Given the description of an element on the screen output the (x, y) to click on. 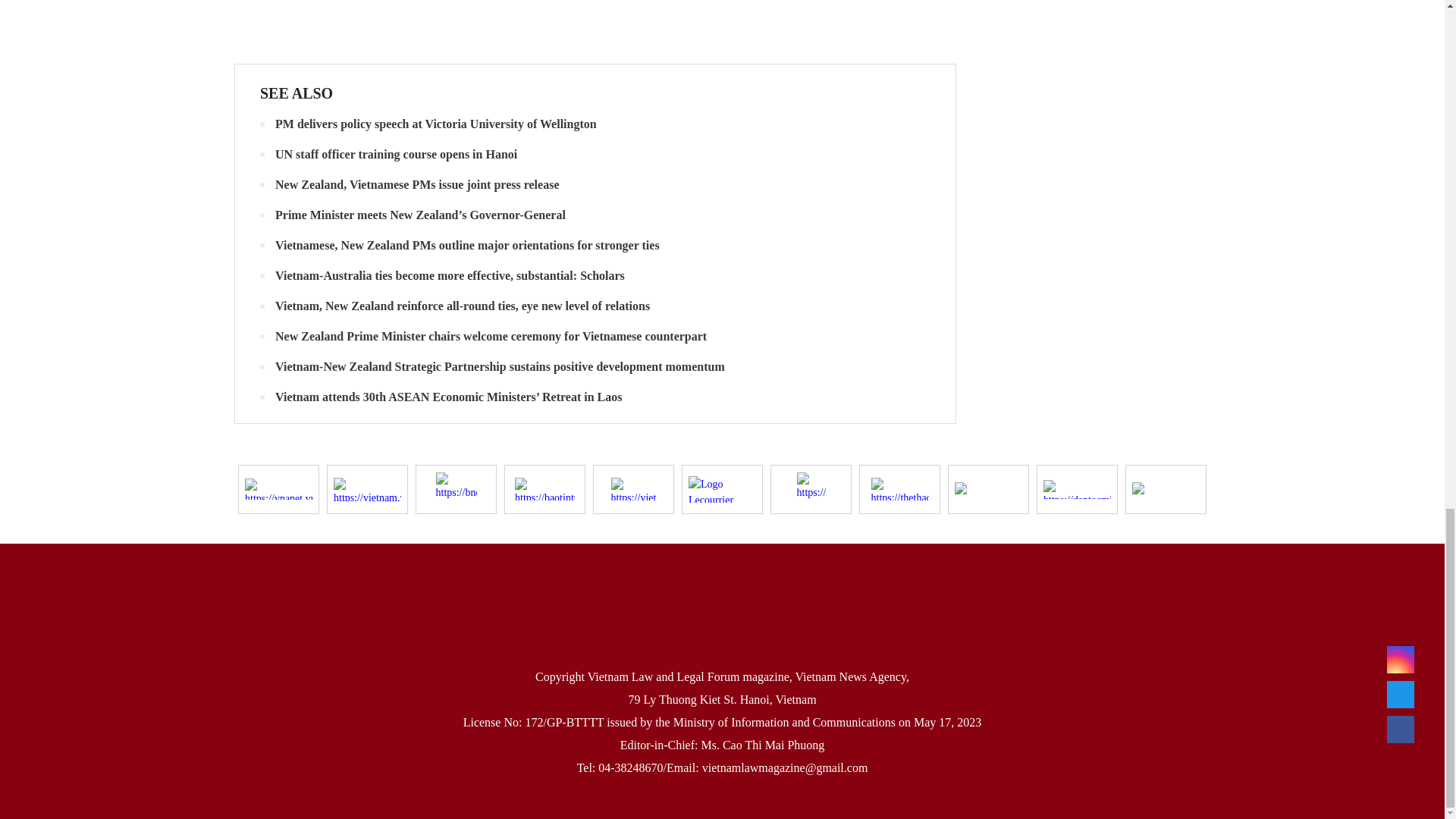
UN staff officer training course opens in Hanoi (595, 154)
SEE ALSO (296, 92)
New Zealand, Vietnamese PMs issue joint press release (595, 184)
